Given the description of an element on the screen output the (x, y) to click on. 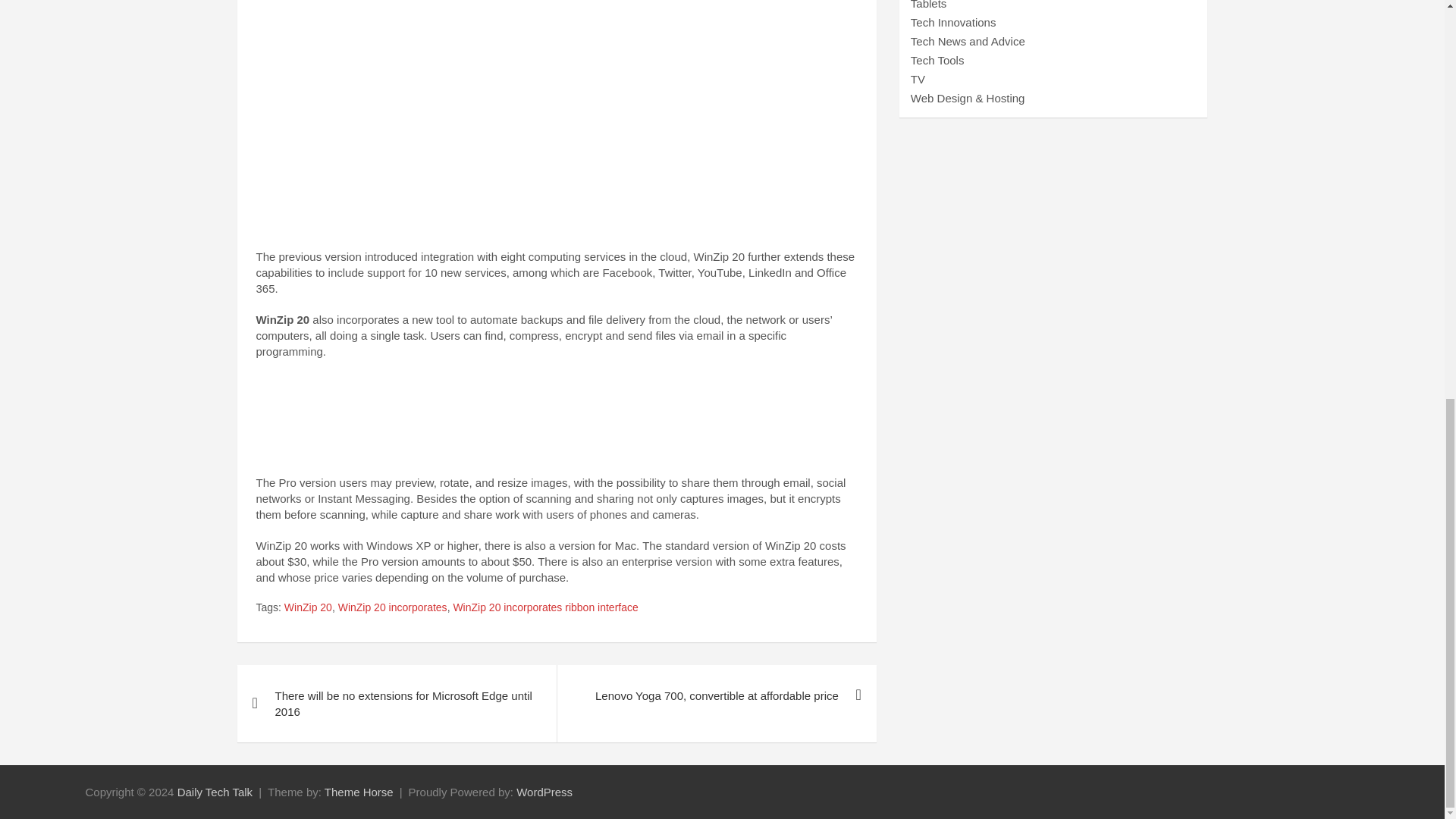
WordPress (544, 791)
WinZip 20 incorporates (391, 607)
Daily Tech Talk (215, 791)
Advertisement (556, 74)
Lenovo Yoga 700, convertible at affordable price (716, 695)
Theme Horse (358, 791)
WinZip 20 (307, 607)
There will be no extensions for Microsoft Edge until 2016 (395, 703)
WinZip 20 incorporates ribbon interface (544, 607)
